Given the description of an element on the screen output the (x, y) to click on. 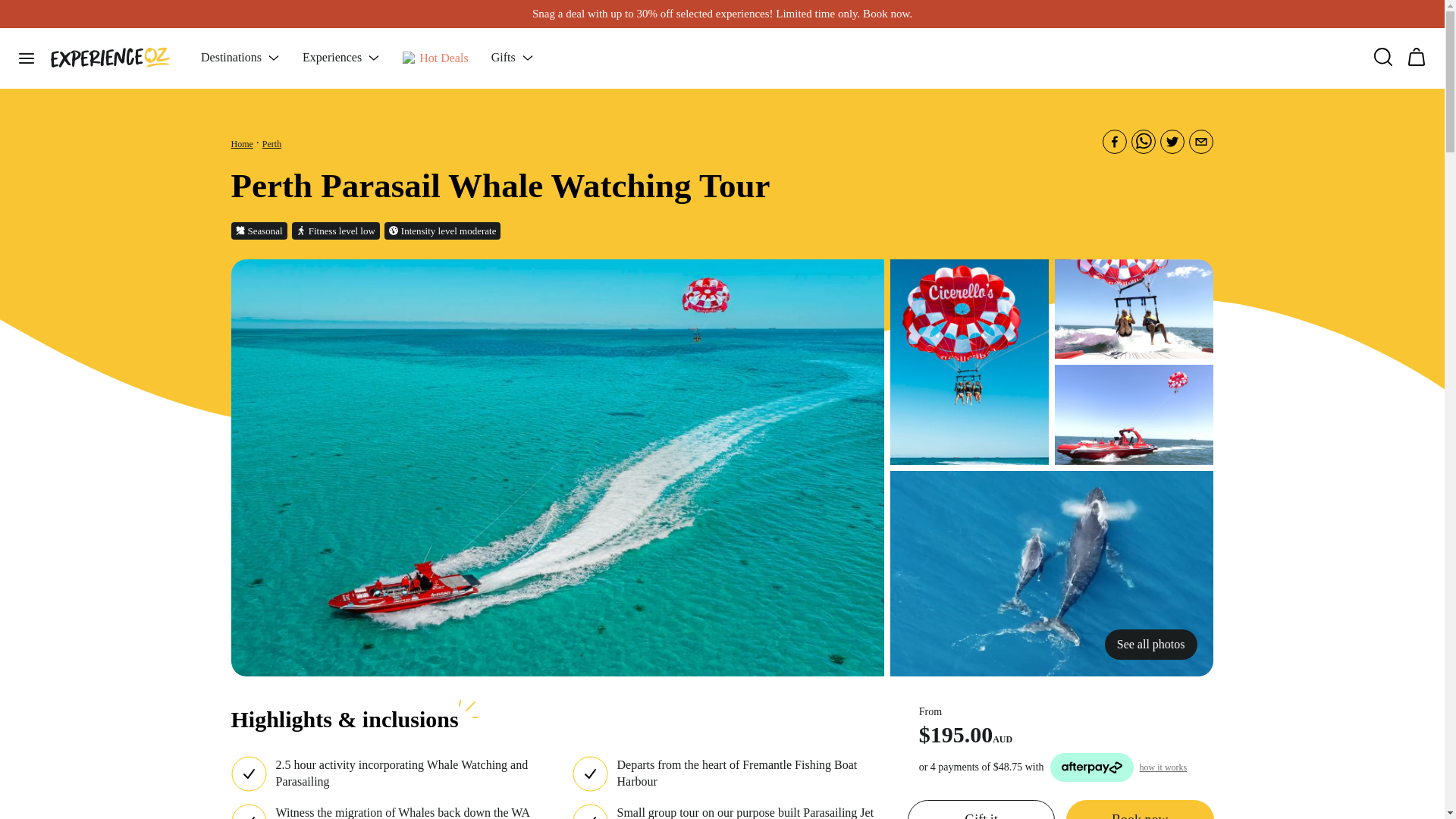
how it works (1164, 767)
Book now (1138, 809)
Gift it (980, 809)
Perth (271, 143)
Home (240, 143)
